Given the description of an element on the screen output the (x, y) to click on. 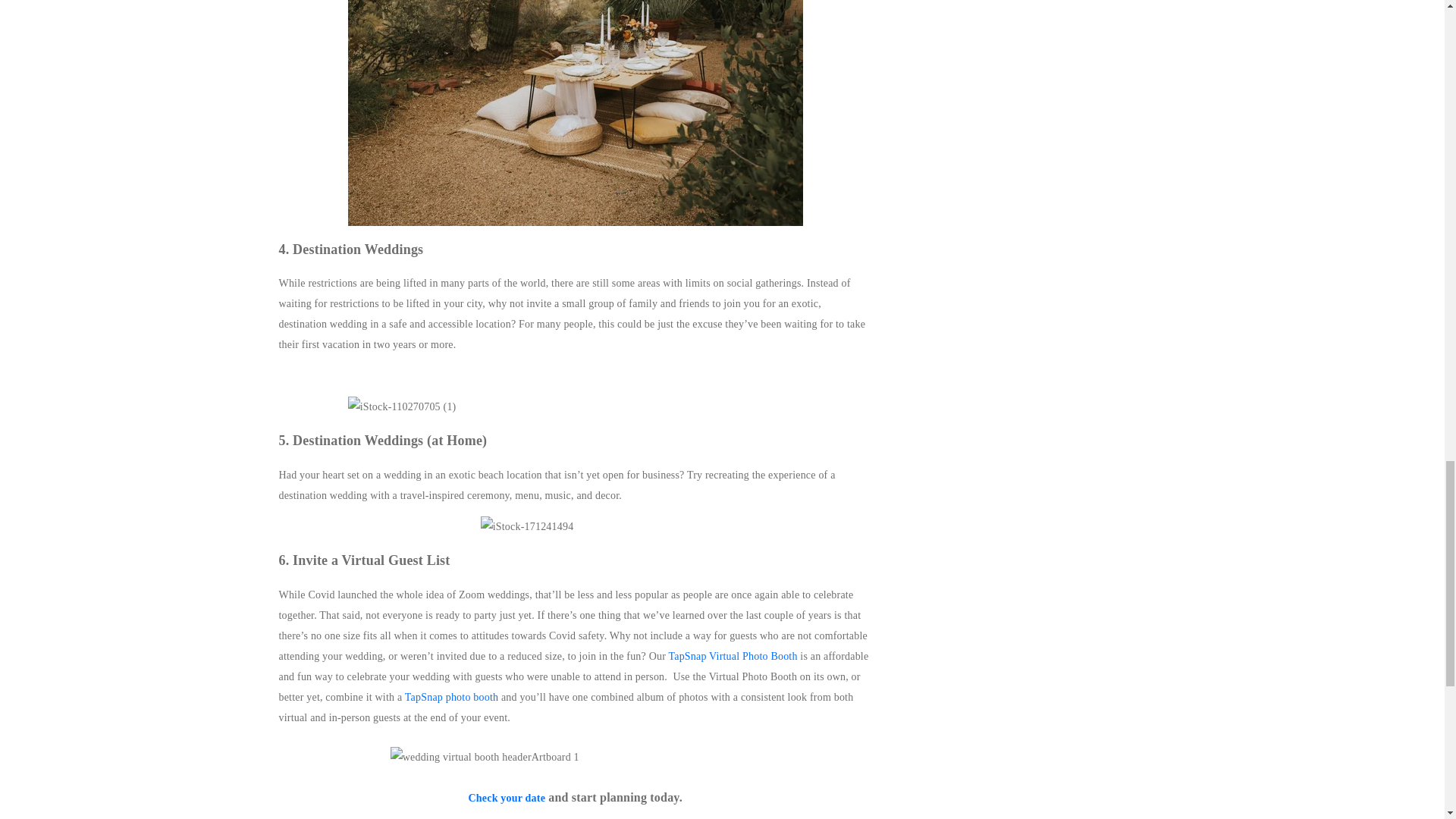
TapSnap Virtual Photo Booth (732, 655)
TapSnap photo booth (450, 696)
Check your date (507, 797)
